Given the description of an element on the screen output the (x, y) to click on. 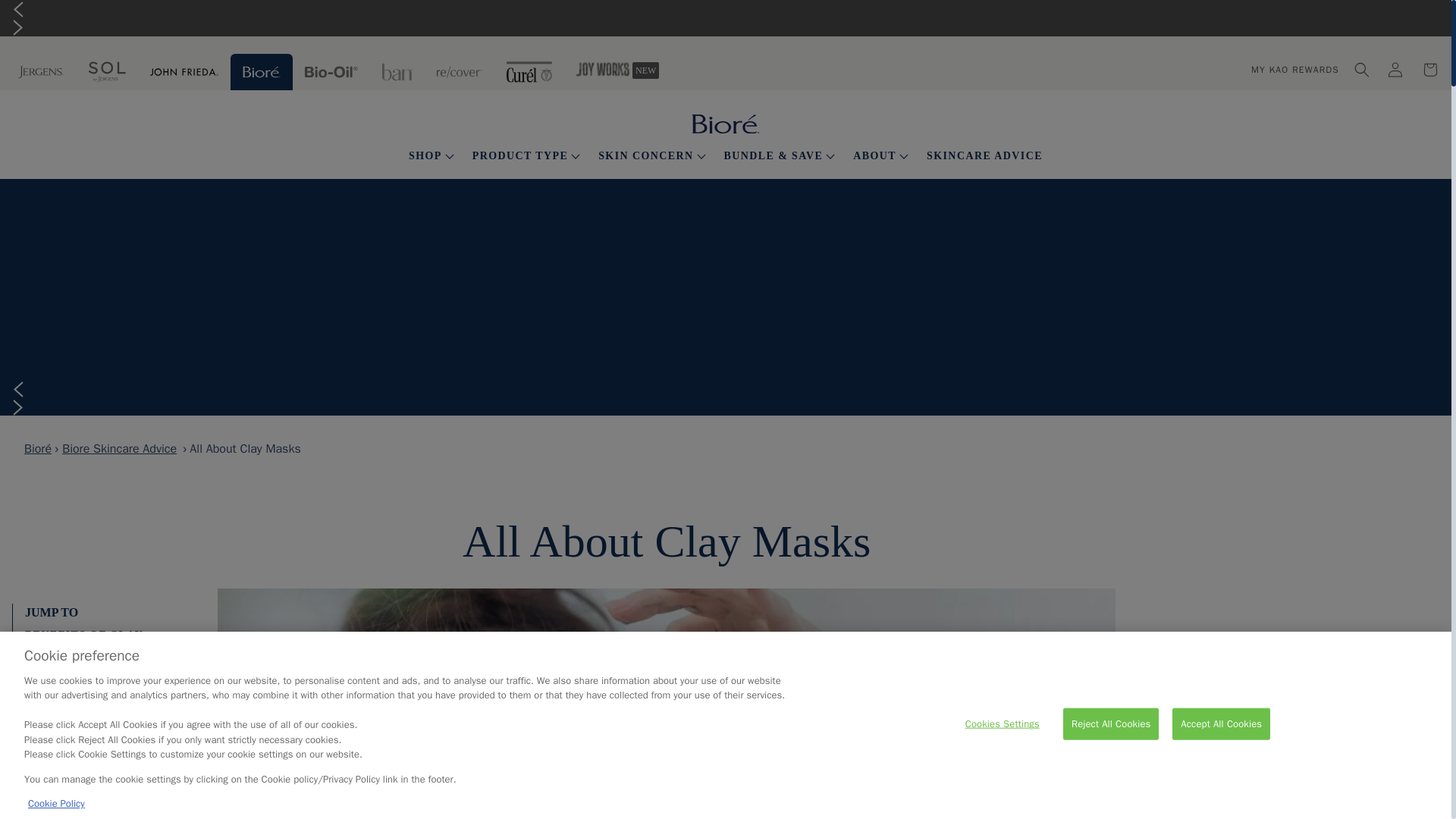
MY KAO REWARDS (1294, 69)
NEW (1395, 69)
SKIP TO CONTENT (545, 69)
NEW (1430, 69)
Biore Home (11, 8)
